Given the description of an element on the screen output the (x, y) to click on. 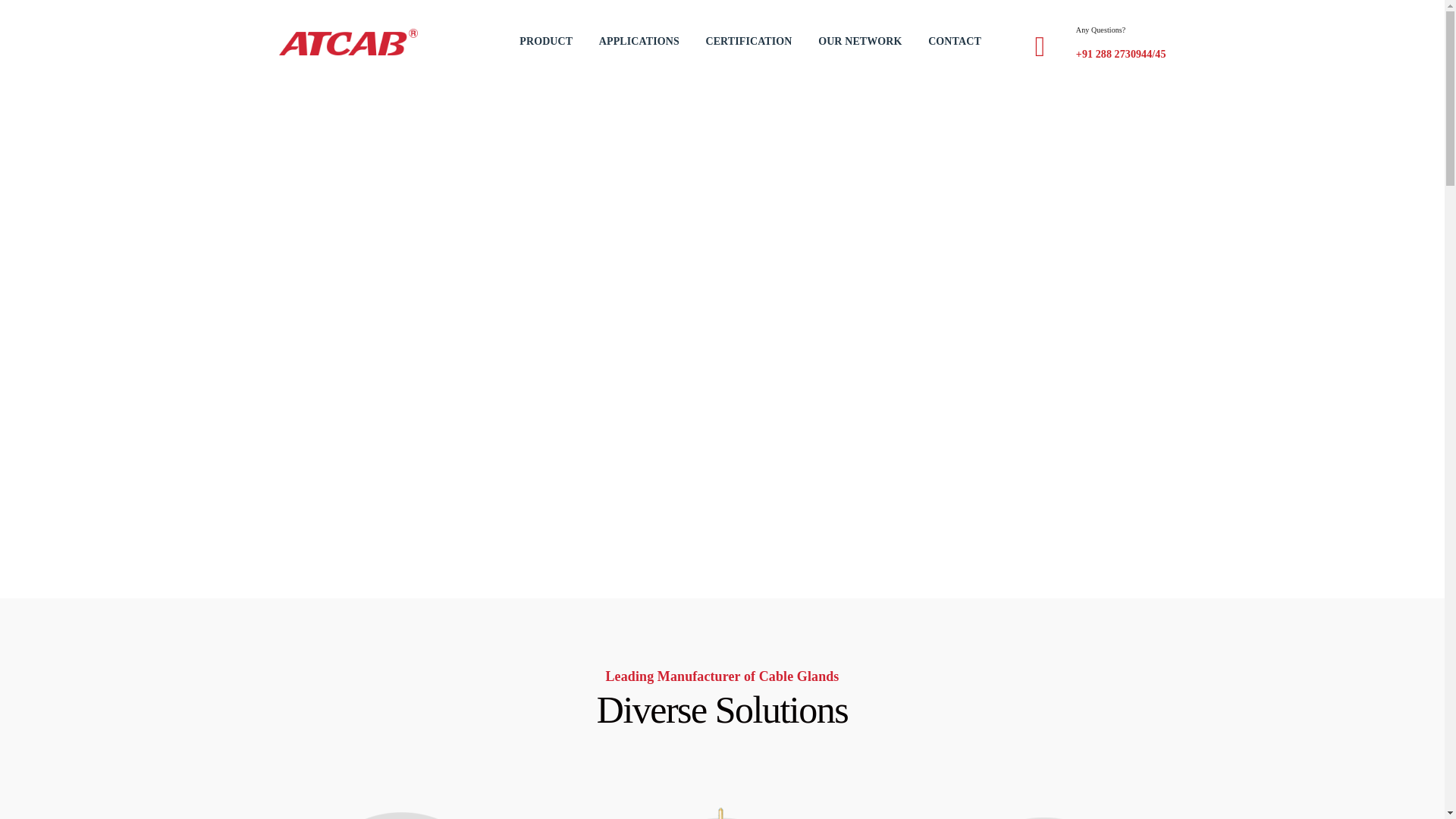
Atlas Metal Industries Pvt. Ltd. (349, 41)
PRODUCT (545, 41)
OUR NETWORK (860, 41)
Cable-Glands (400, 809)
CERTIFICATION (748, 41)
APPLICATIONS (638, 41)
CONTACT (953, 41)
